Given the description of an element on the screen output the (x, y) to click on. 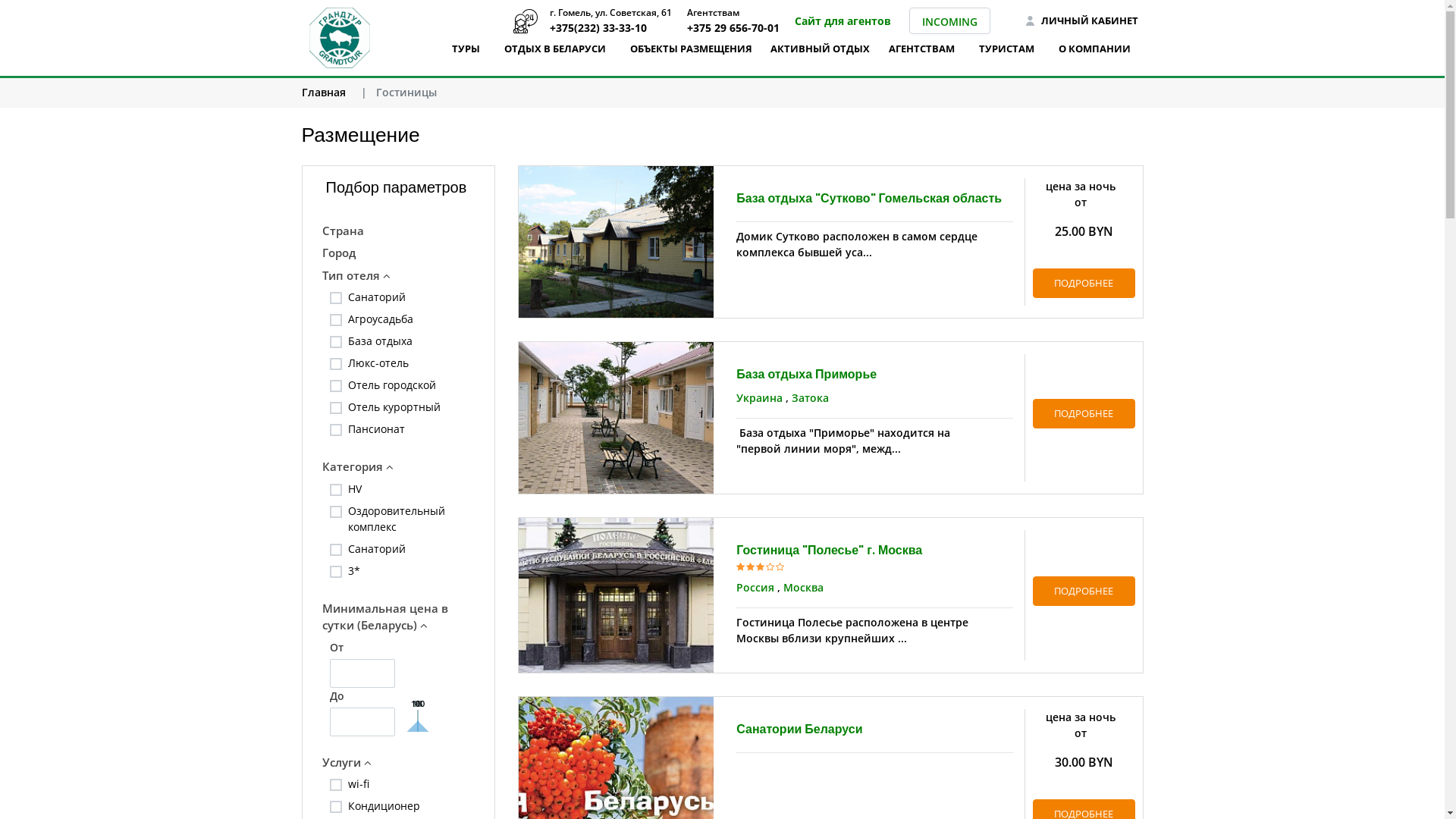
Y Element type: text (352, 315)
Y Element type: text (352, 381)
Y Element type: text (352, 425)
Y Element type: text (352, 485)
Y Element type: text (352, 293)
Y Element type: text (352, 507)
+375(232) 33-33-10 Element type: hover (525, 21)
Y Element type: text (352, 802)
Y Element type: text (352, 545)
INCOMING Element type: text (949, 21)
Y Element type: text (352, 337)
Y Element type: text (352, 359)
Y Element type: text (352, 780)
Y Element type: text (352, 567)
Y Element type: text (352, 403)
